Given the description of an element on the screen output the (x, y) to click on. 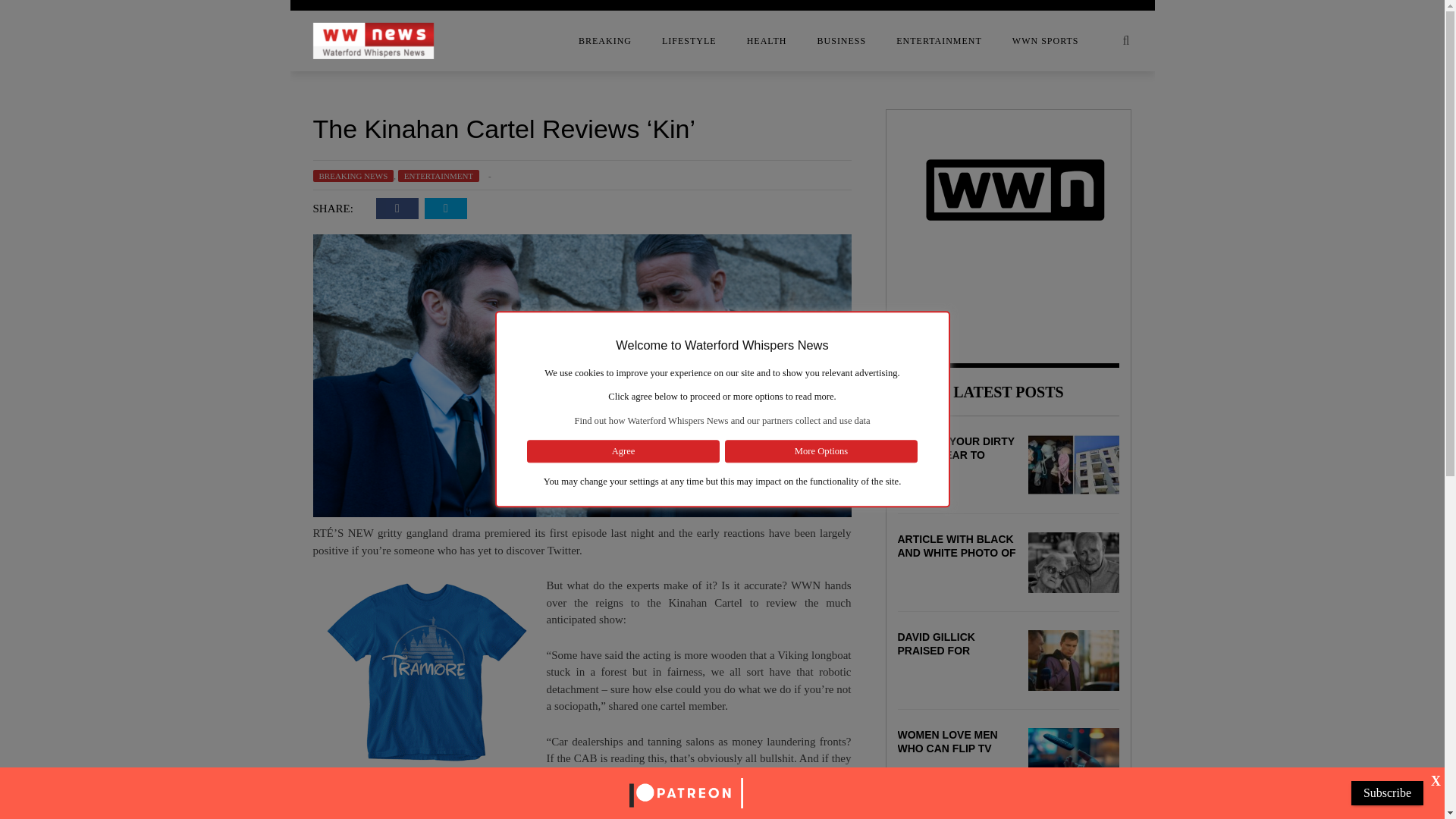
COMPETITION RULES (191, 86)
BREAKING (604, 40)
YOUR PRIVACY SETTINGS (191, 268)
CONTACT US (191, 116)
PRIVACY (191, 237)
DISCLAIMER (191, 146)
HOMEPAGE (191, 177)
NEWSLETTER SIGN UP FORM (191, 207)
Support us on Patreon (685, 791)
